Given the description of an element on the screen output the (x, y) to click on. 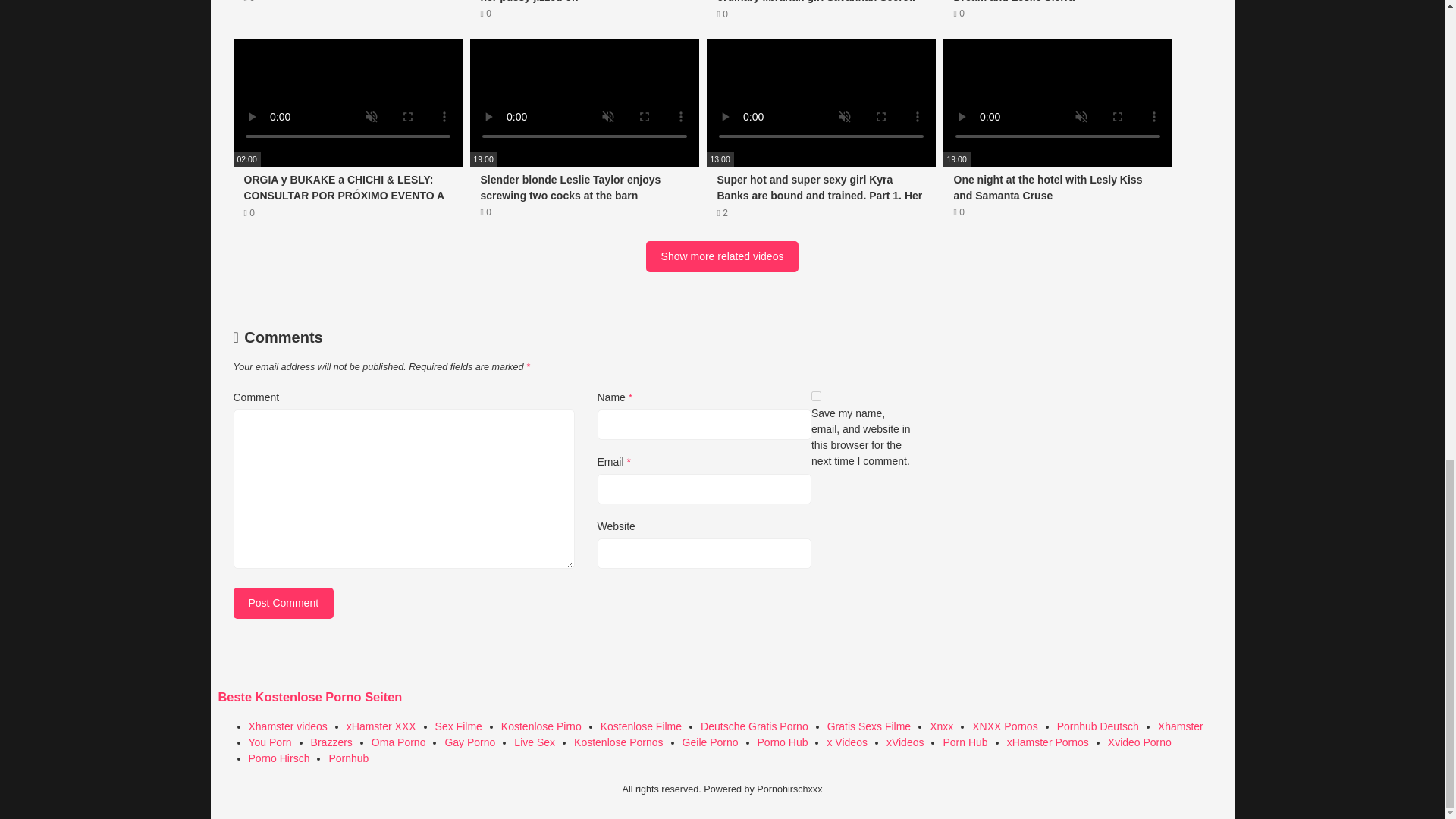
Post Comment (283, 603)
Mature babe cockrides before getting her pussy jizzed on (347, 10)
Post Comment (584, 10)
LESLY SE GODE ET SUCE (283, 603)
yes (347, 10)
Show more related videos (815, 396)
